Given the description of an element on the screen output the (x, y) to click on. 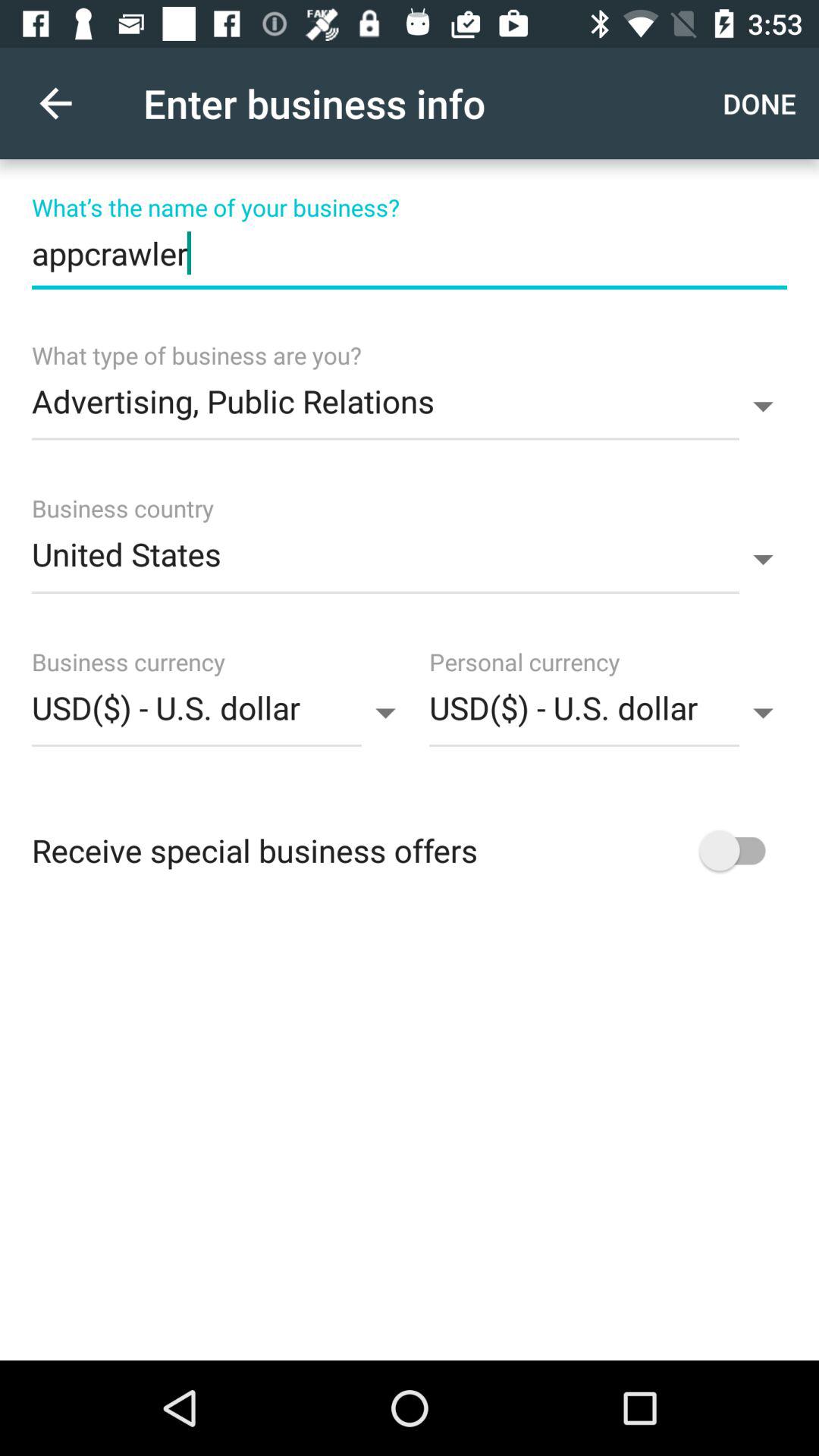
select the done button on the top right side of the page (762, 103)
go to right of last option (739, 850)
